Given the description of an element on the screen output the (x, y) to click on. 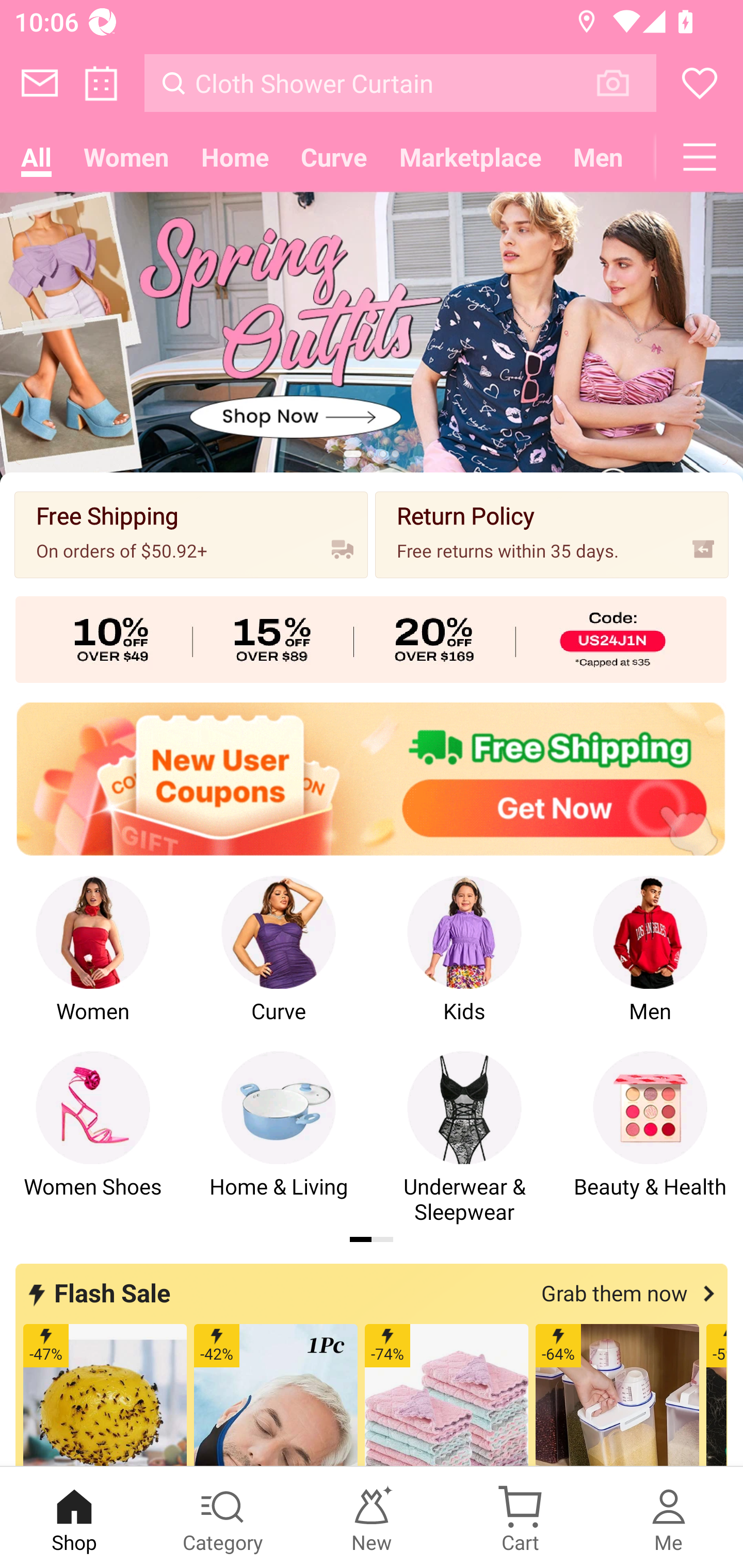
Wishlist (699, 82)
VISUAL SEARCH (623, 82)
All (36, 156)
Women (126, 156)
Home (234, 156)
Curve (333, 156)
Marketplace (470, 156)
Men (597, 156)
Free Shipping On orders of $50.92+ (190, 534)
Return Policy Free returns within 35 days. (551, 534)
Women (92, 962)
Curve (278, 962)
Kids (464, 962)
Men (650, 962)
Women Shoes (92, 1138)
Home & Living (278, 1138)
Underwear & Sleepwear (464, 1138)
Beauty & Health (650, 1138)
Category (222, 1517)
New (371, 1517)
Cart (519, 1517)
Me (668, 1517)
